Given the description of an element on the screen output the (x, y) to click on. 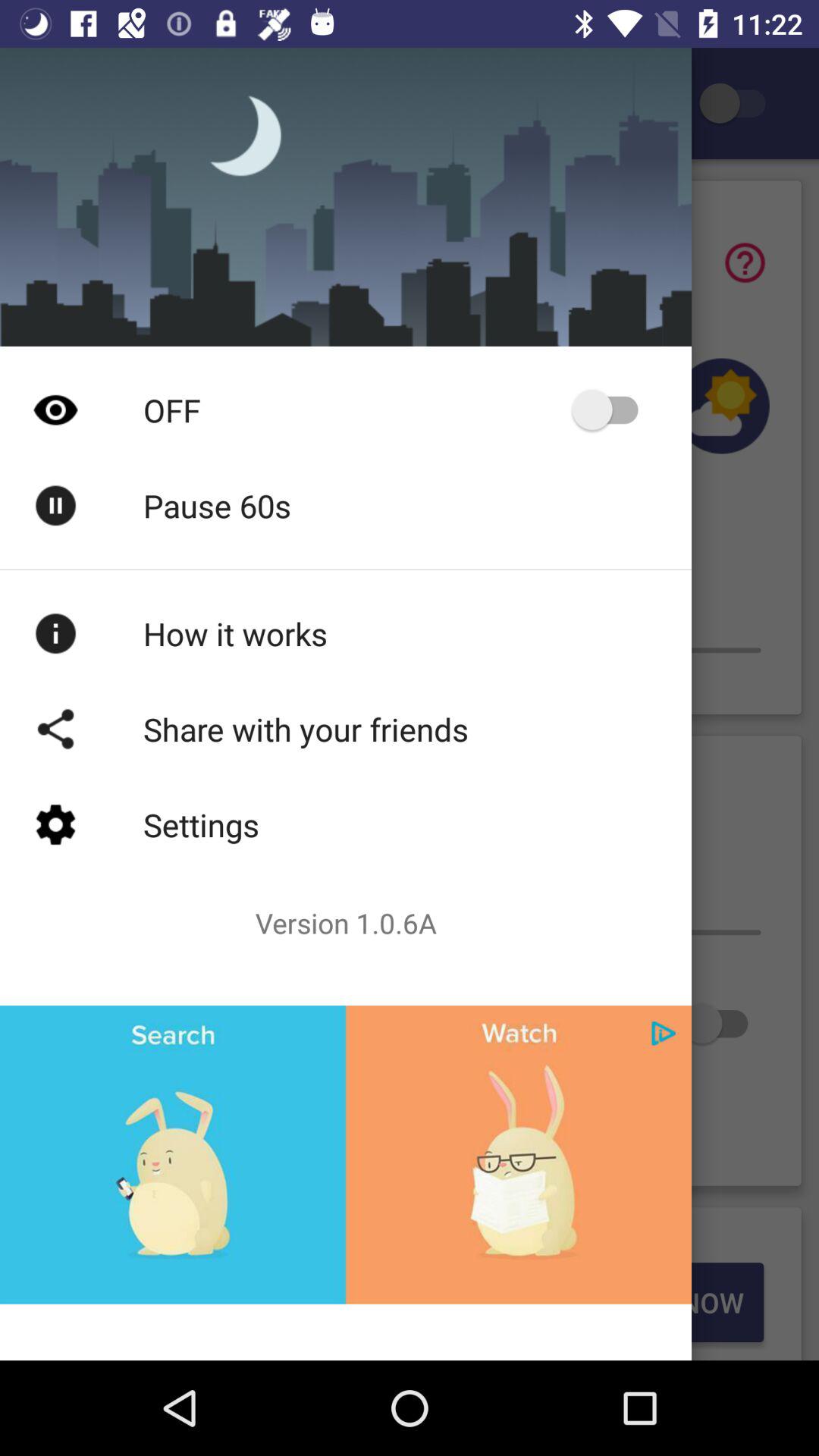
advertisement about search and watch (345, 1154)
